Given the description of an element on the screen output the (x, y) to click on. 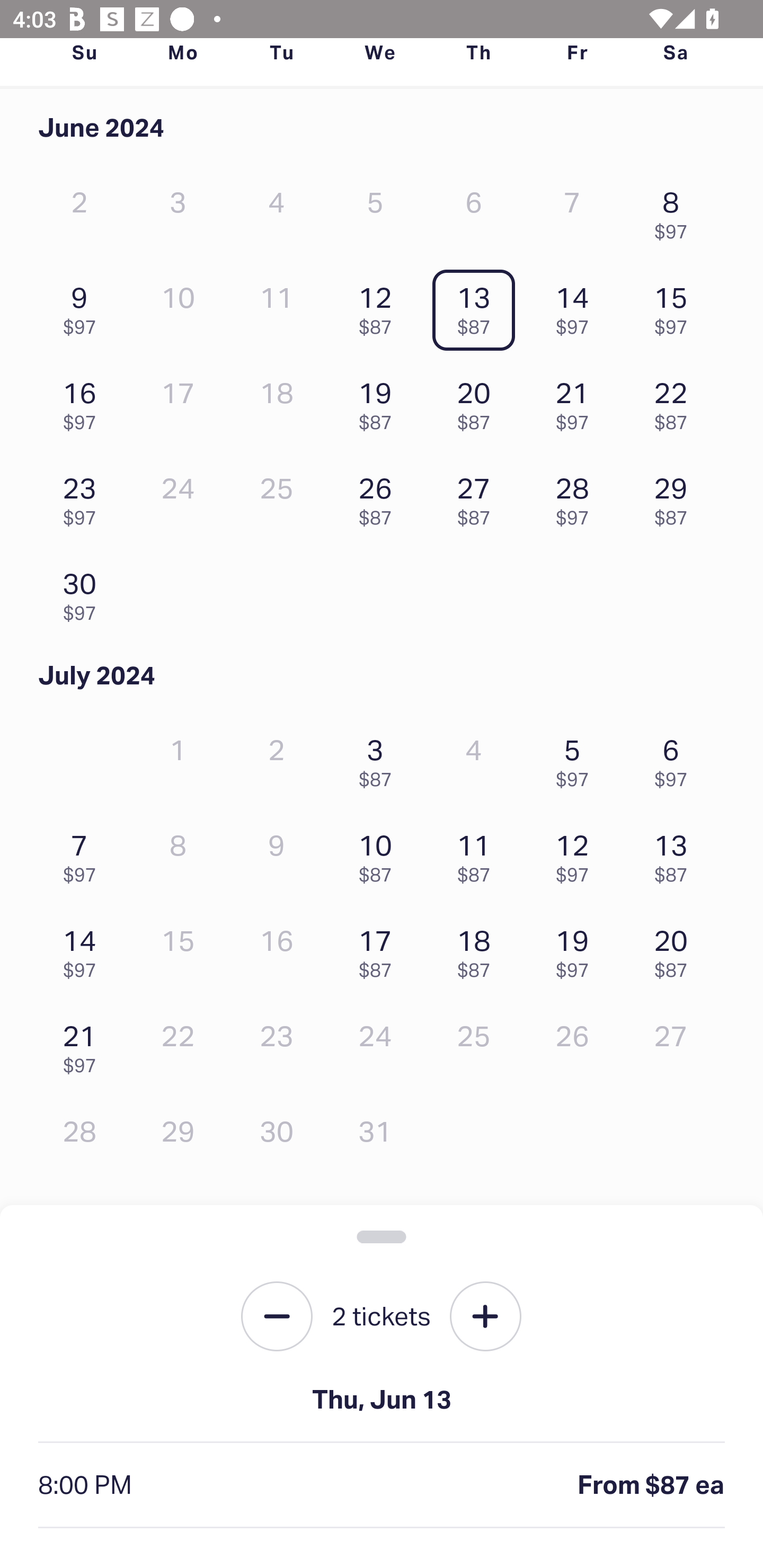
8 $97 (675, 210)
9 $97 (84, 306)
12 $87 (379, 306)
13 $87 (478, 306)
14 $97 (577, 306)
15 $97 (675, 306)
16 $97 (84, 401)
19 $87 (379, 401)
20 $87 (478, 401)
21 $97 (577, 401)
22 $87 (675, 401)
23 $97 (84, 496)
26 $87 (379, 496)
27 $87 (478, 496)
28 $97 (577, 496)
29 $87 (675, 496)
30 $97 (84, 591)
3 $87 (379, 757)
5 $97 (577, 757)
6 $97 (675, 757)
7 $97 (84, 853)
10 $87 (379, 853)
11 $87 (478, 853)
12 $97 (577, 853)
13 $87 (675, 853)
14 $97 (84, 949)
17 $87 (379, 949)
18 $87 (478, 949)
19 $97 (577, 949)
20 $87 (675, 949)
21 $97 (84, 1044)
8:00 PM From $87 ea (381, 1485)
